Given the description of an element on the screen output the (x, y) to click on. 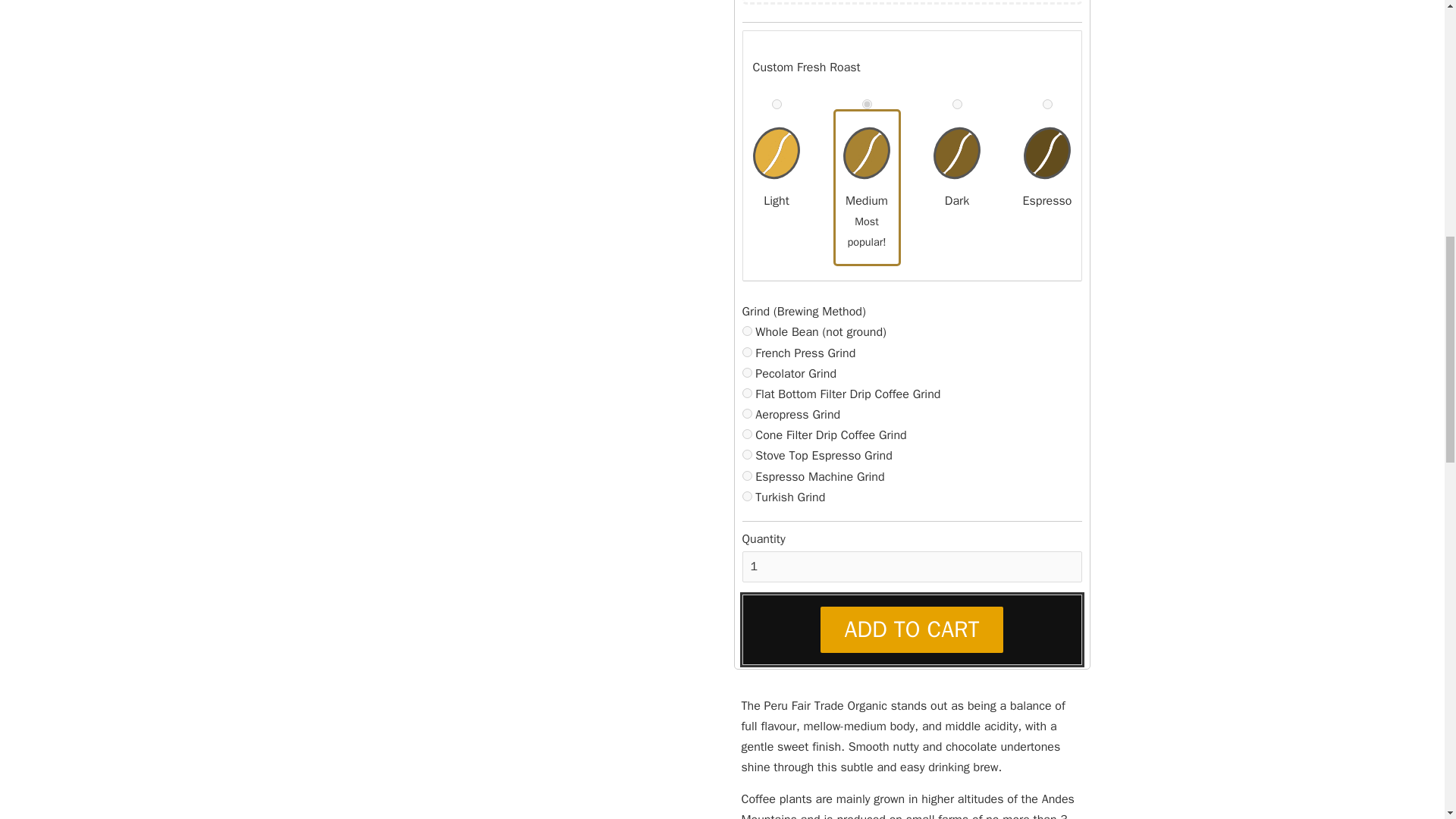
Espresso (1046, 103)
Light (776, 103)
Dark (957, 103)
1 (911, 566)
Add to Cart (912, 629)
Cone Filter Drip Coffee Grind (746, 433)
French Press Grind (746, 352)
Turkish Grind (746, 496)
Stove Top Espresso (746, 454)
Espresso Machine (746, 475)
Percolator Grind (746, 372)
Flat Bottom Filter Drip Coffee Grind (746, 393)
Aeropress Grind (746, 413)
Medium (865, 103)
